Given the description of an element on the screen output the (x, y) to click on. 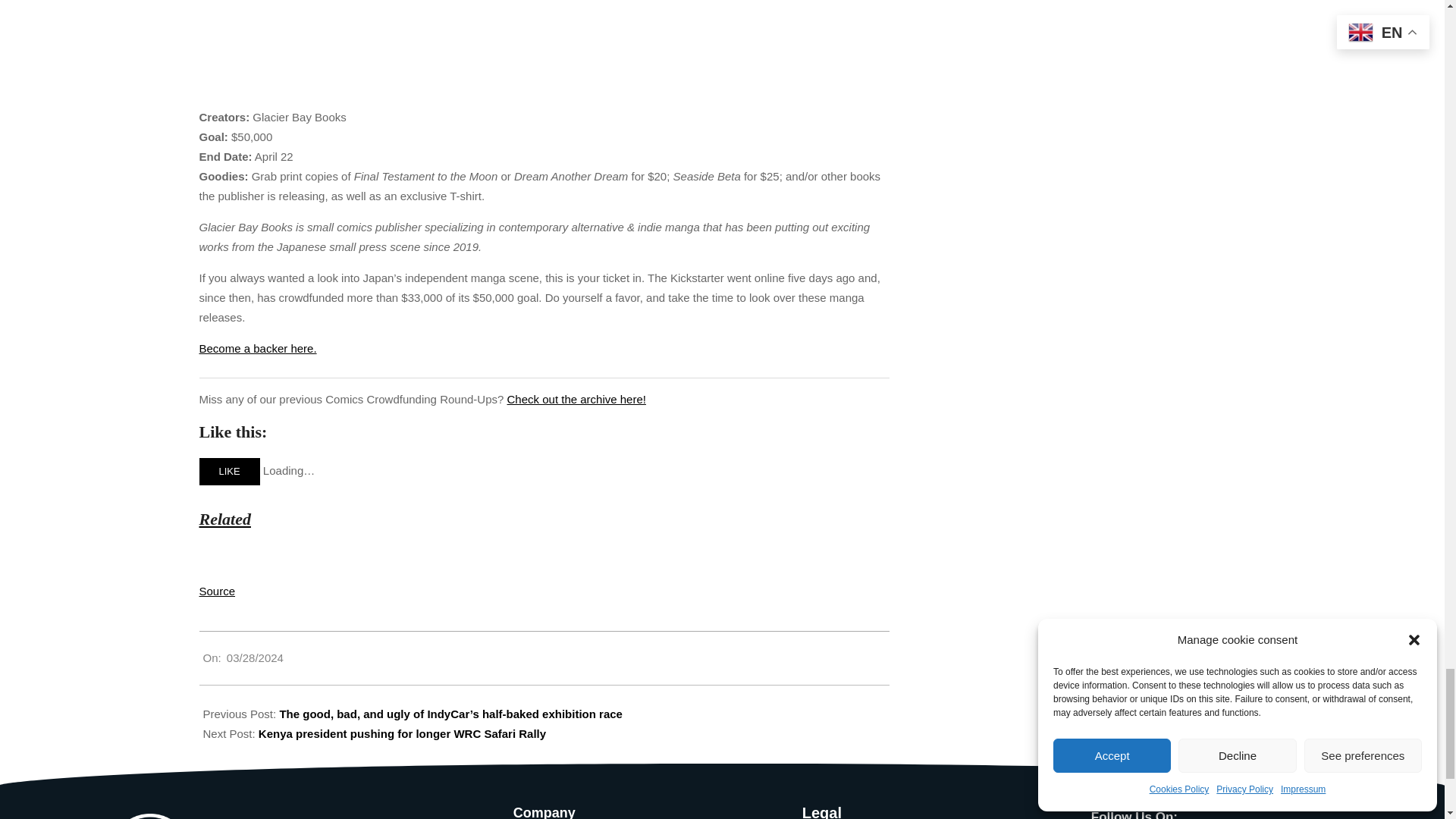
Thursday, March 28, 2024, 8:12 pm (255, 657)
